Given the description of an element on the screen output the (x, y) to click on. 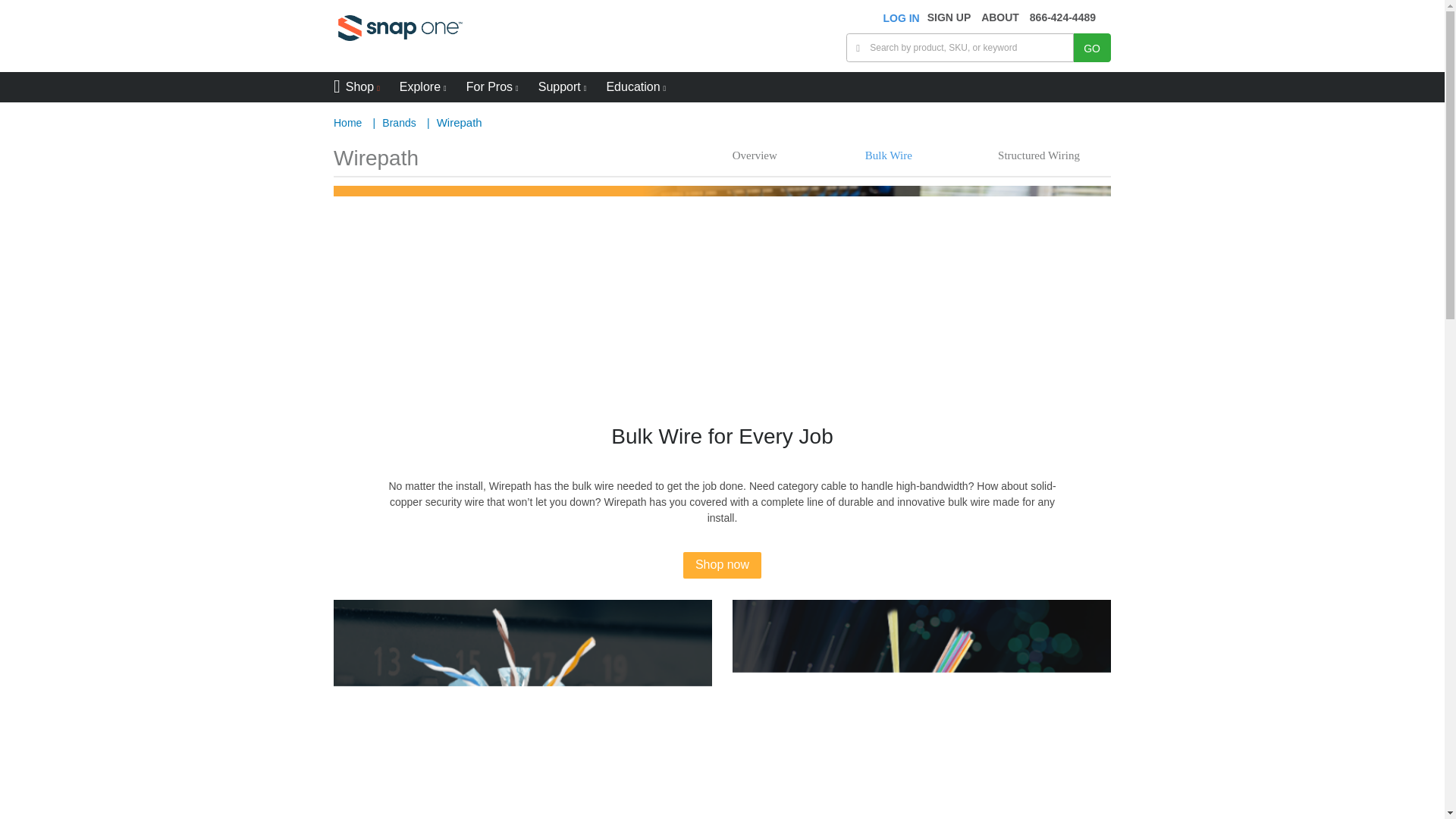
GO (1092, 47)
SIGN UP (949, 17)
ABOUT (1000, 17)
Shop (356, 88)
Search by product, SKU, or keyword (1092, 47)
Explore (422, 88)
